Given the description of an element on the screen output the (x, y) to click on. 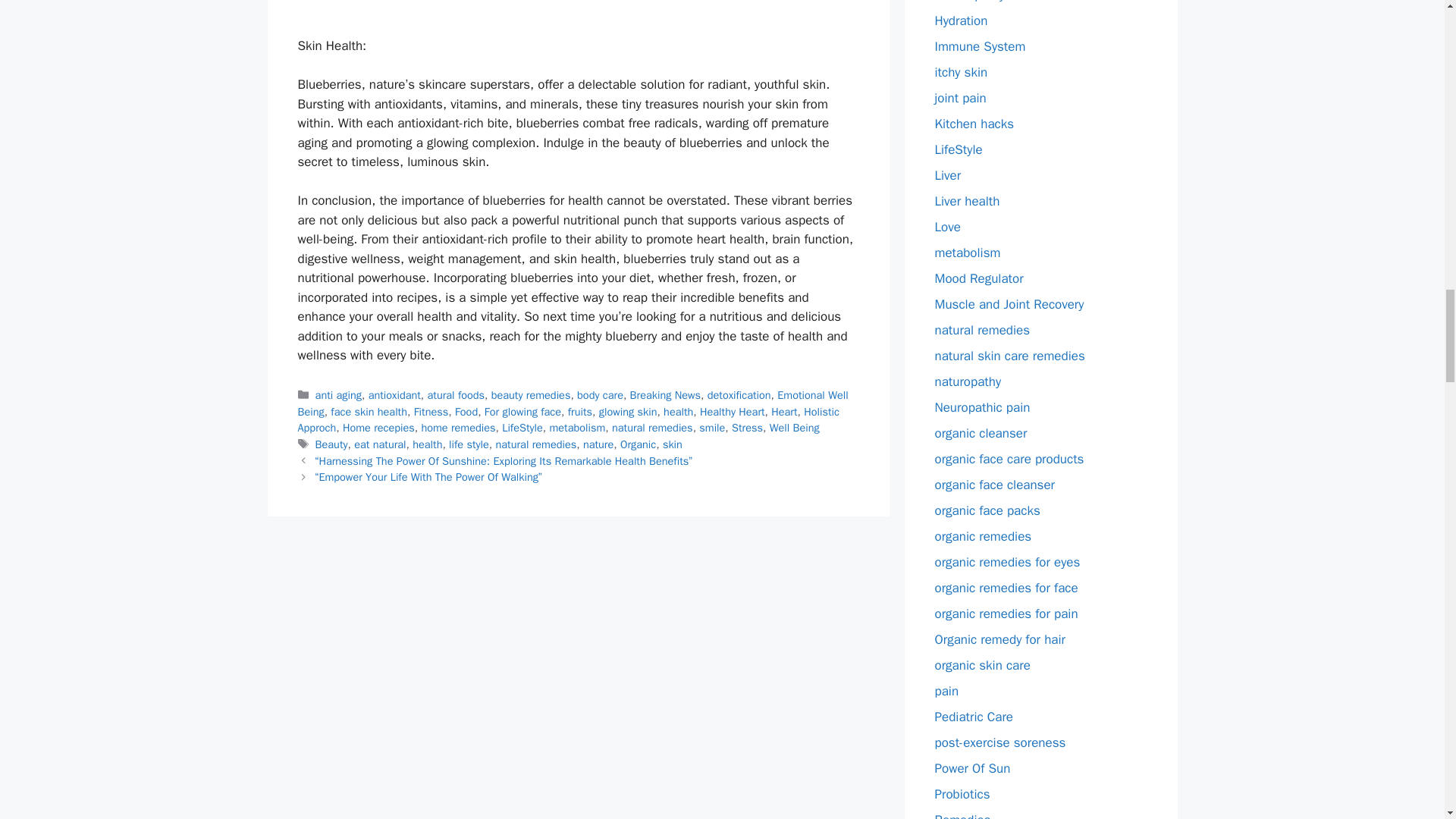
Healthy Heart (732, 411)
fruits (579, 411)
Next (428, 477)
Emotional Well Being (572, 403)
glowing skin (628, 411)
anti aging (338, 395)
atural foods (456, 395)
detoxification (739, 395)
face skin health (368, 411)
antioxidant (394, 395)
